Given the description of an element on the screen output the (x, y) to click on. 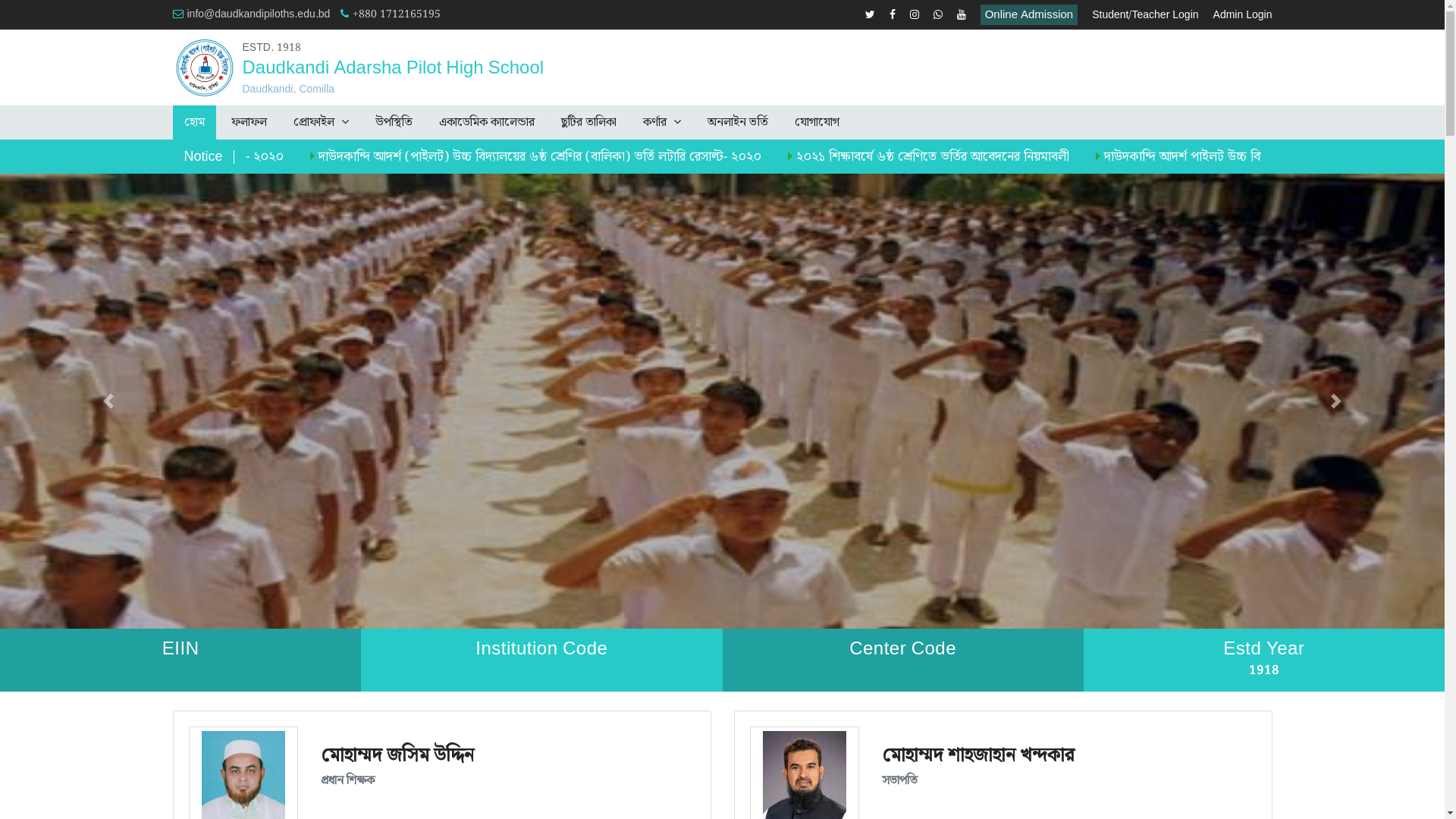
Online Admission Element type: text (1029, 14)
Notice Element type: text (202, 156)
info@daudkandipiloths.edu.bd Element type: text (251, 14)
Previous Element type: text (108, 400)
Next Element type: text (1335, 400)
Admin Login Element type: text (1242, 14)
Student/Teacher Login Element type: text (1145, 14)
